Given the description of an element on the screen output the (x, y) to click on. 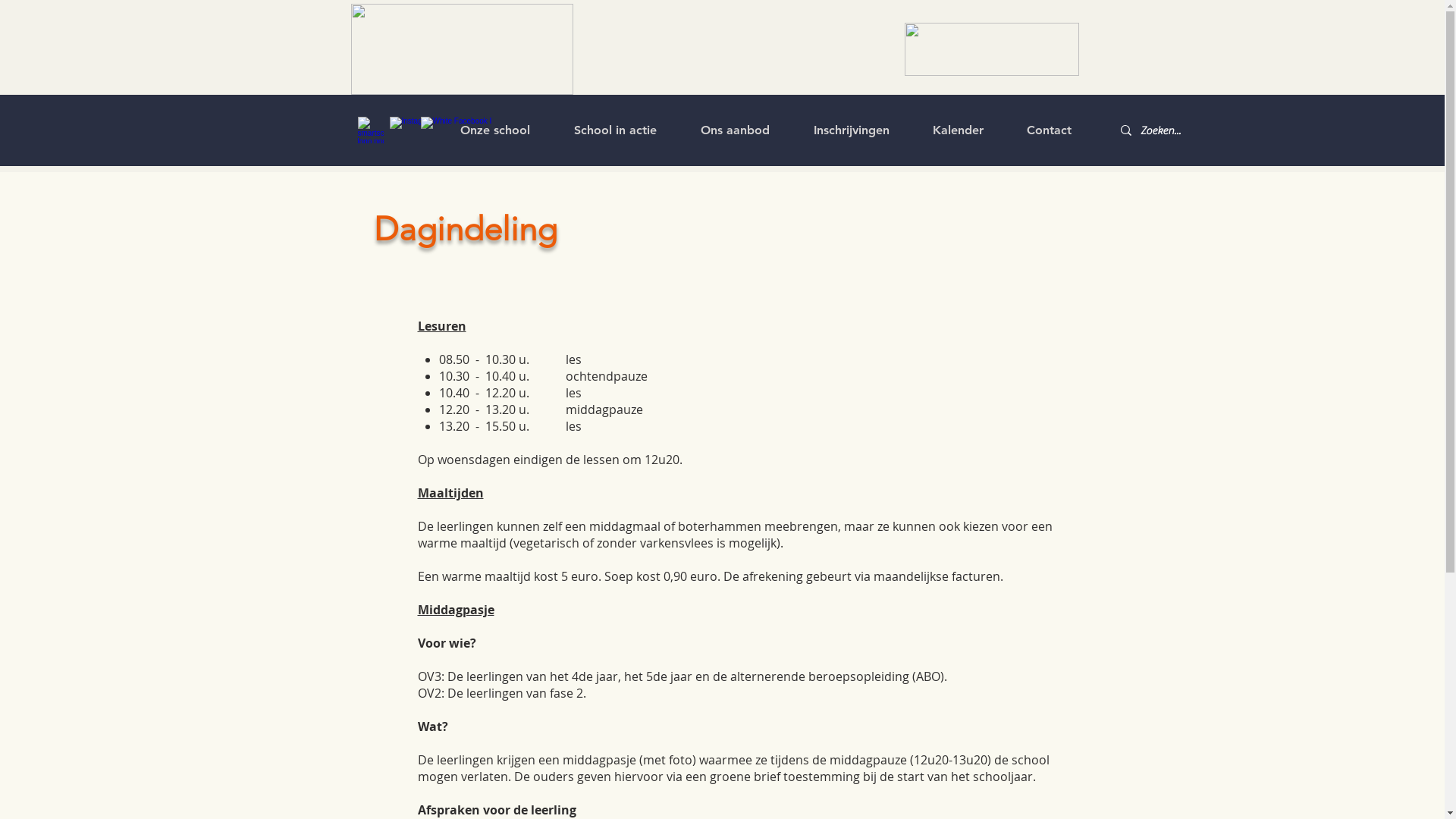
Kalender Element type: text (958, 130)
Inschrijvingen Element type: text (851, 130)
logo.gif Element type: hover (990, 48)
logo site sbso.png Element type: hover (461, 48)
